Given the description of an element on the screen output the (x, y) to click on. 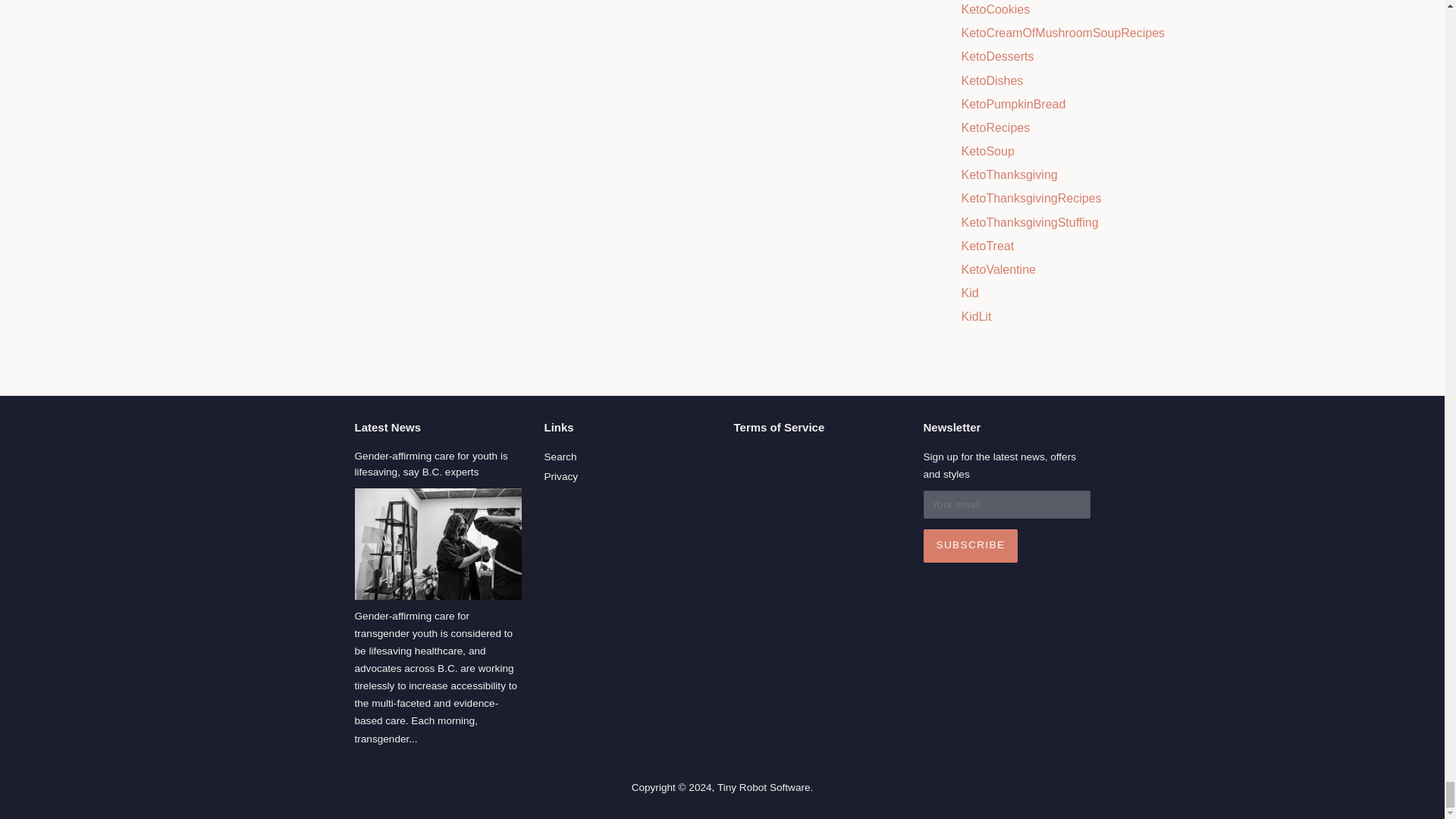
Subscribe (970, 545)
